Given the description of an element on the screen output the (x, y) to click on. 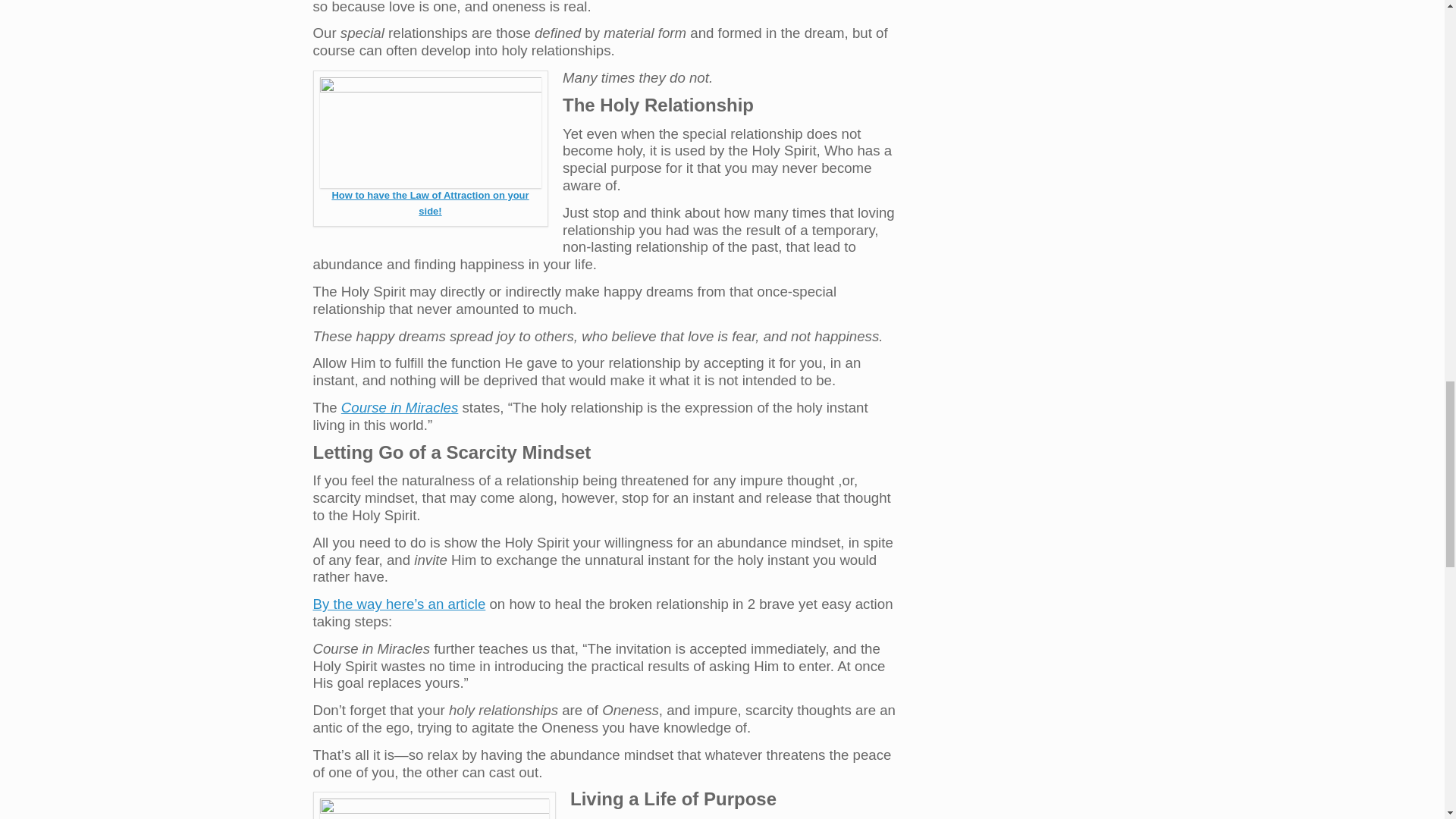
How to have the Law of Attraction on your side! (429, 203)
Course in Miracles (399, 407)
